Given the description of an element on the screen output the (x, y) to click on. 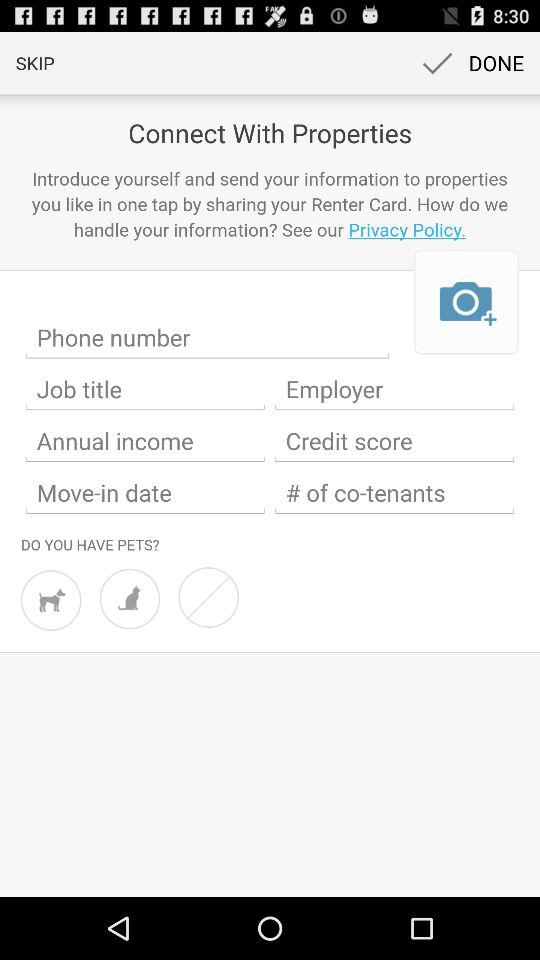
enter your employer information (394, 389)
